Given the description of an element on the screen output the (x, y) to click on. 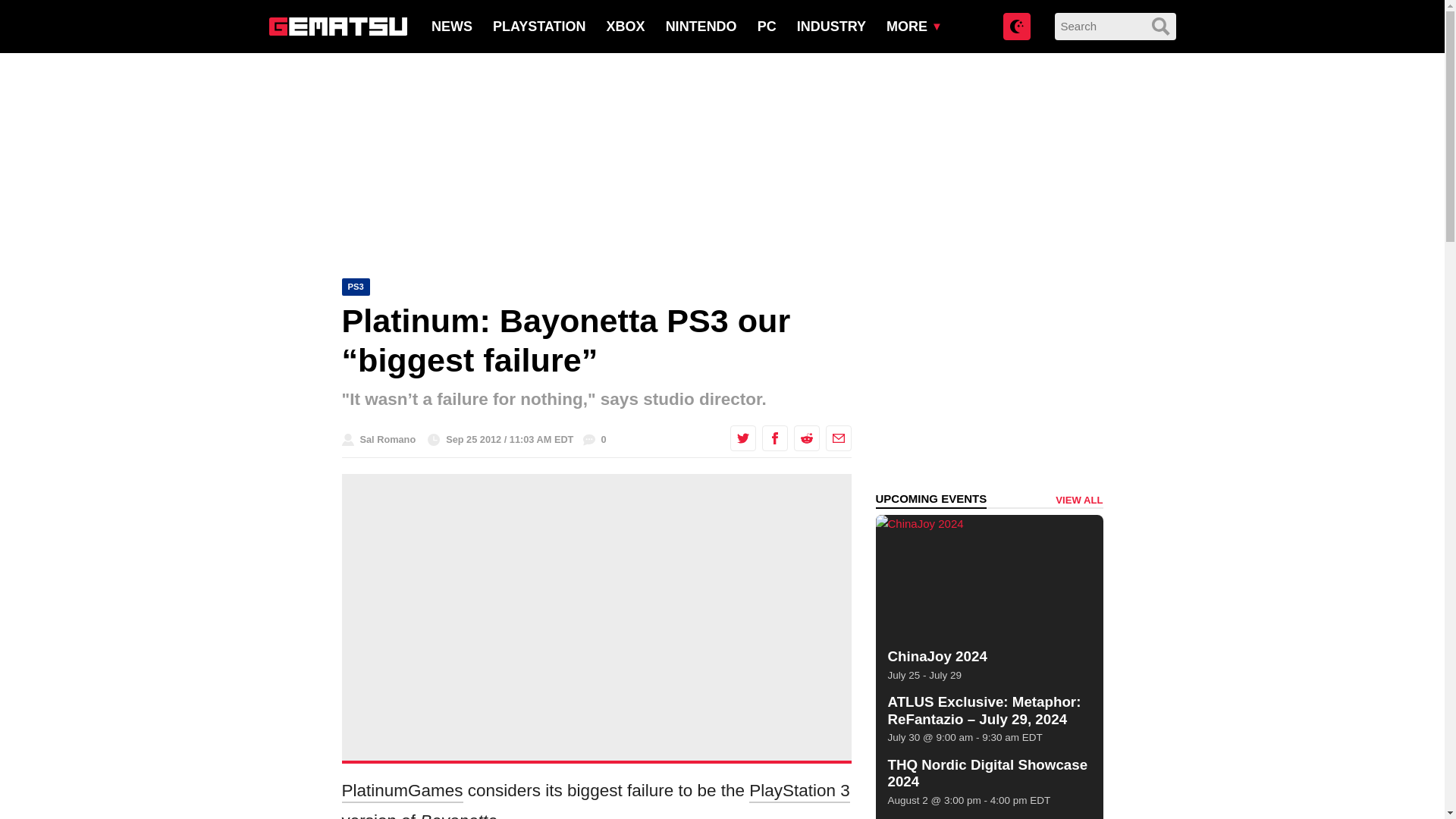
PLAYSTATION (539, 26)
MORE (906, 26)
XBOX (626, 26)
NINTENDO (700, 26)
Share this on Twitter (742, 438)
Posts by Sal Romano (386, 439)
Share this on Facebook (774, 438)
NEWS (450, 26)
INDUSTRY (831, 26)
PC (766, 26)
Gematsu (336, 26)
Share this on Reddit (805, 438)
Share this by email (837, 438)
